Given the description of an element on the screen output the (x, y) to click on. 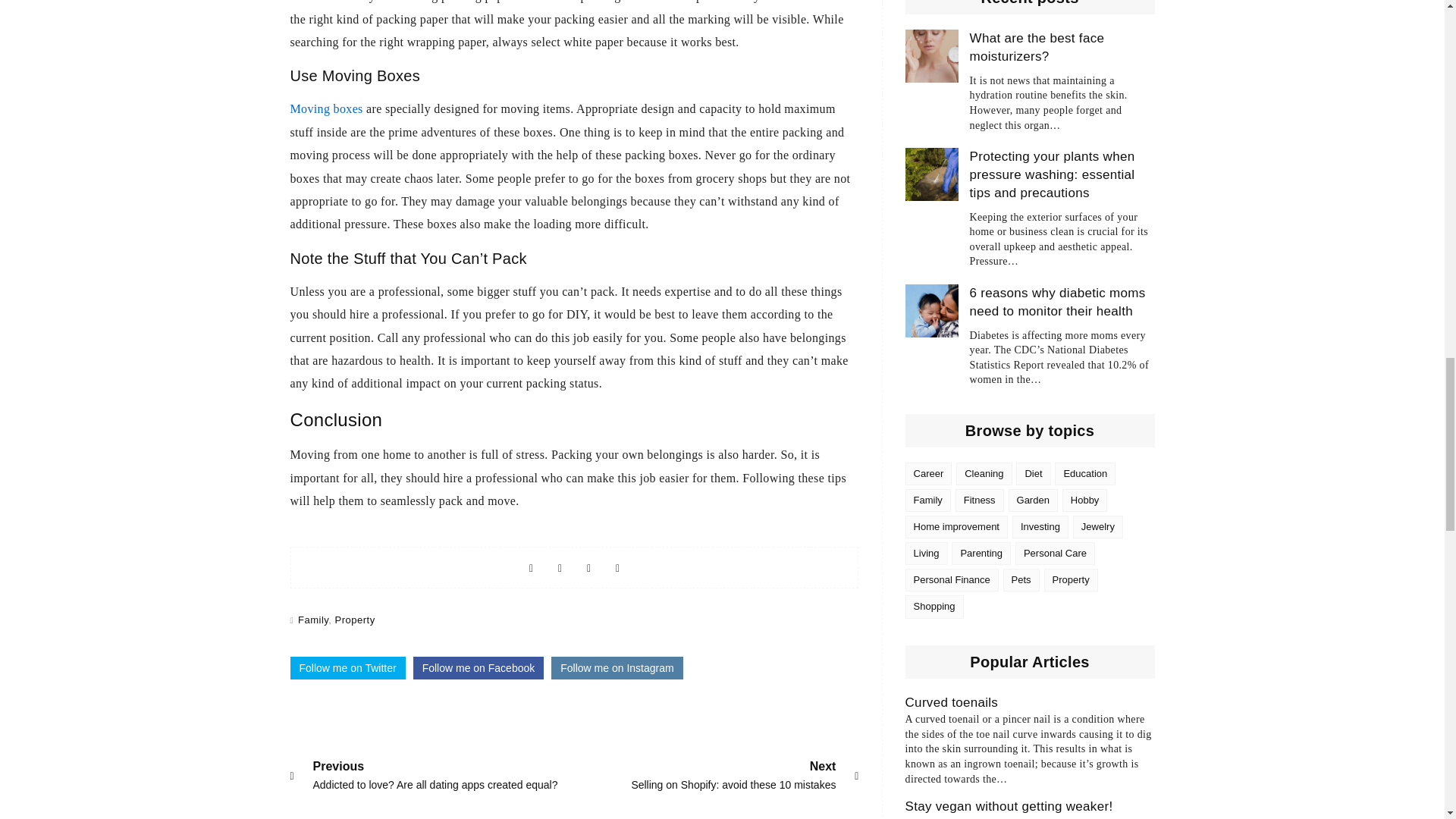
Moving boxes (325, 108)
Share on Pinterest (587, 567)
Follow me on Facebook (478, 667)
Family (313, 619)
Property (354, 619)
Share on Facebook (530, 567)
Follow me on Instagram (732, 773)
Share on Reddit (616, 667)
Follow me on Twitter (616, 567)
Share on Twitter (346, 667)
